Given the description of an element on the screen output the (x, y) to click on. 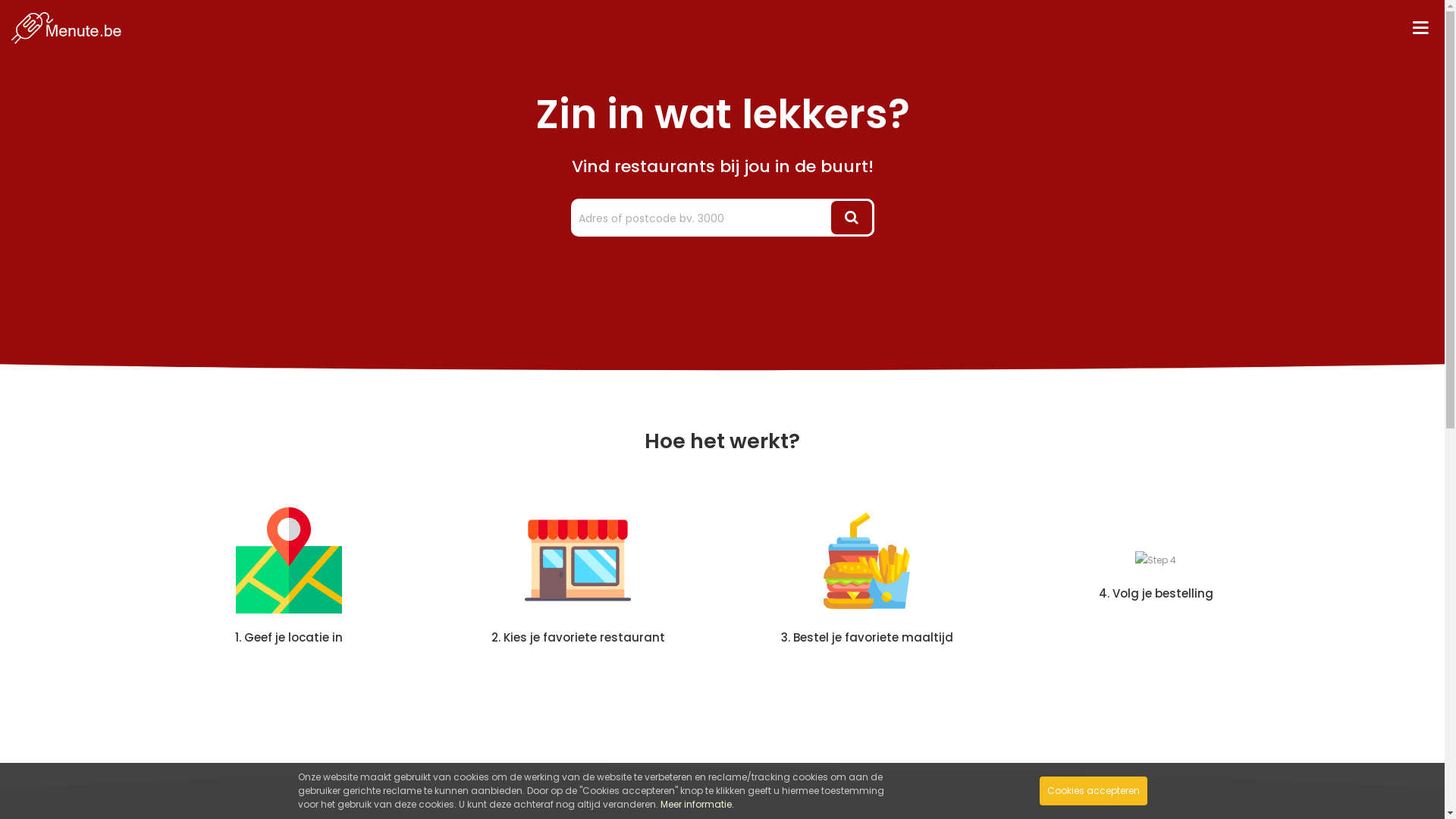
Step 4 Element type: hover (1155, 560)
Step 1 Element type: hover (288, 560)
Step 3 Element type: hover (866, 560)
Meer informatie. Element type: text (696, 803)
Cookies accepteren Element type: text (1092, 790)
Step 2 Element type: hover (577, 560)
